Given the description of an element on the screen output the (x, y) to click on. 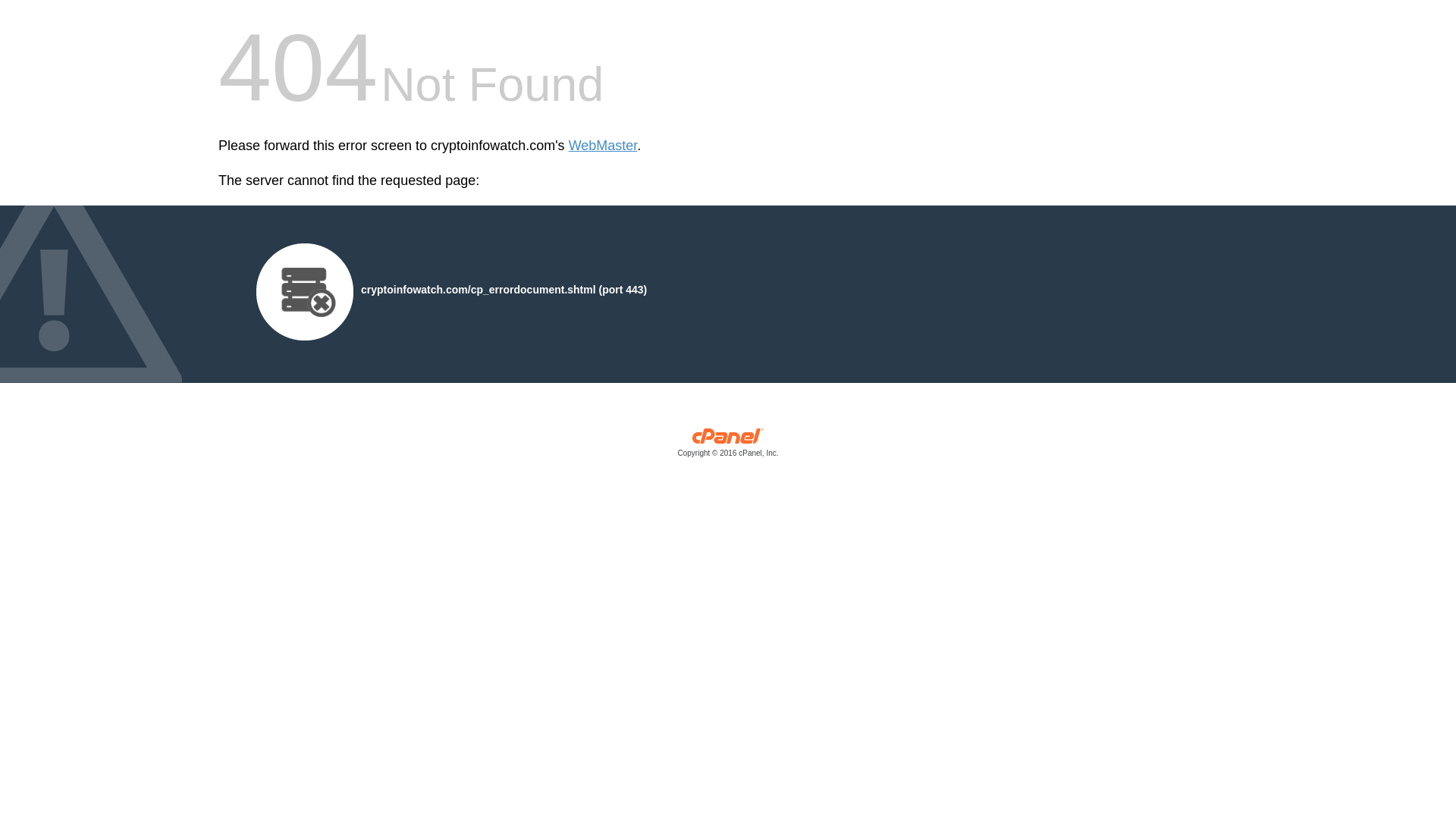
cPanel, Inc. (727, 446)
WebMaster (603, 145)
